Given the description of an element on the screen output the (x, y) to click on. 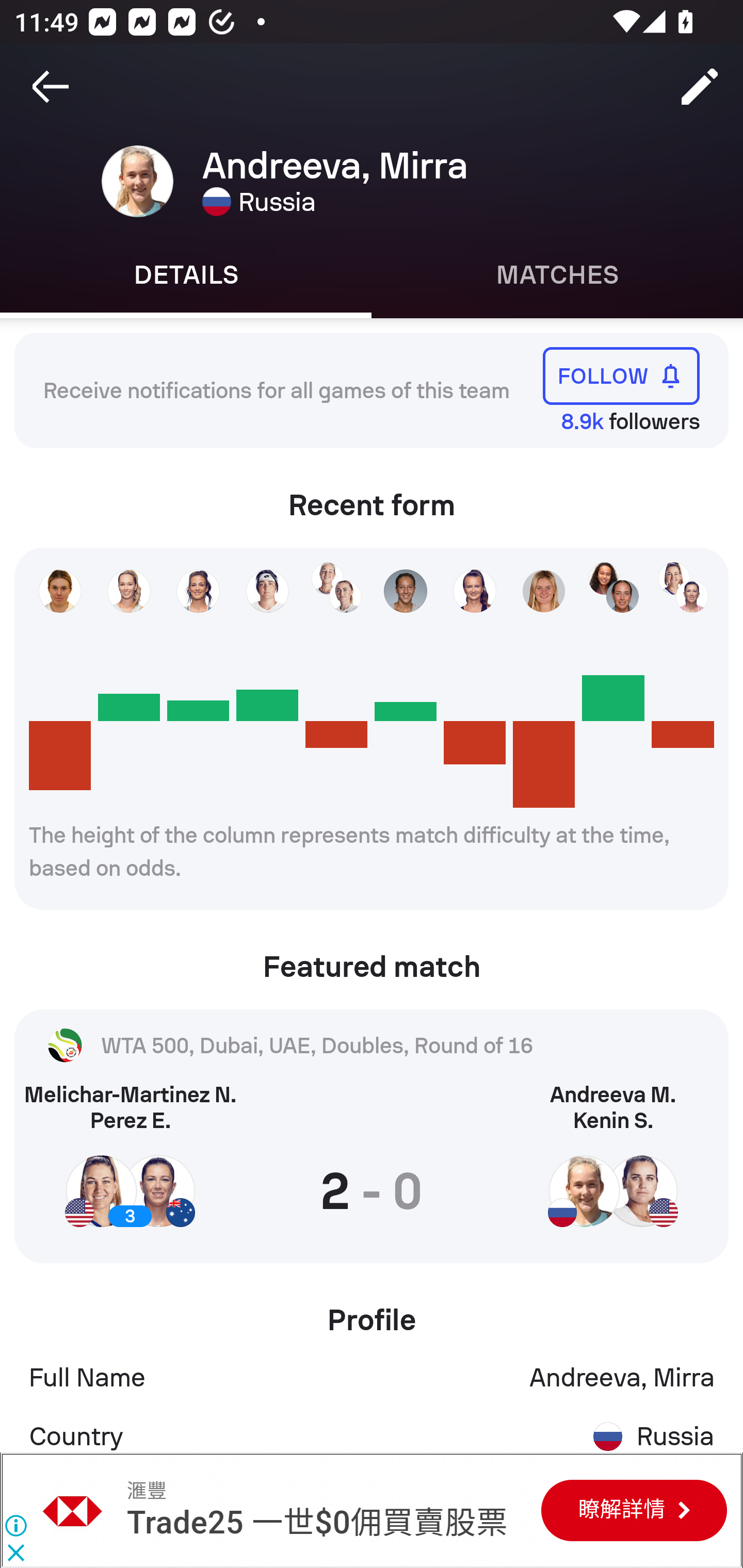
Navigate up (50, 86)
Edit (699, 86)
Matches MATCHES (557, 275)
FOLLOW (621, 375)
滙豐 (73, 1510)
滙豐 (145, 1491)
瞭解詳情 (634, 1509)
Trade25 一世$0佣買賣股票 (316, 1522)
